Given the description of an element on the screen output the (x, y) to click on. 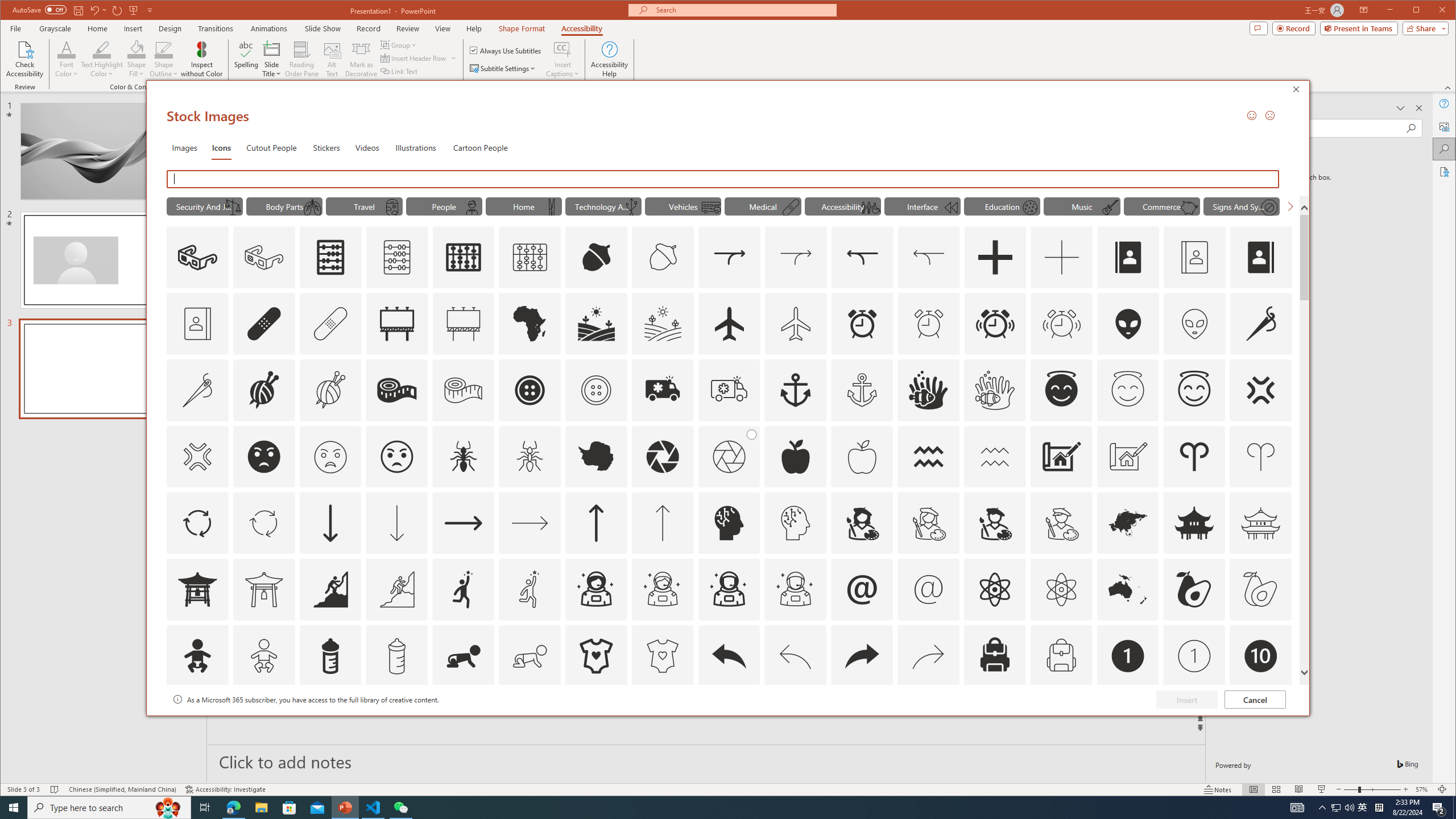
AutomationID: Icons_Badge8 (1061, 721)
outline (1193, 389)
AutomationID: Icons_Badge9_M (1260, 721)
AutomationID: Icons_Atom (994, 589)
AutomationID: Icons_Acquisition_LTR (729, 256)
Accessibility Checker Accessibility: Investigate (225, 789)
AutomationID: Icons_Back_RTL (861, 655)
AutomationID: Icons_AngerSymbol (1260, 389)
"Travel" Icons. (364, 206)
"Vehicles" Icons. (682, 206)
AutomationID: Icons_Atom_M (1061, 589)
